Given the description of an element on the screen output the (x, y) to click on. 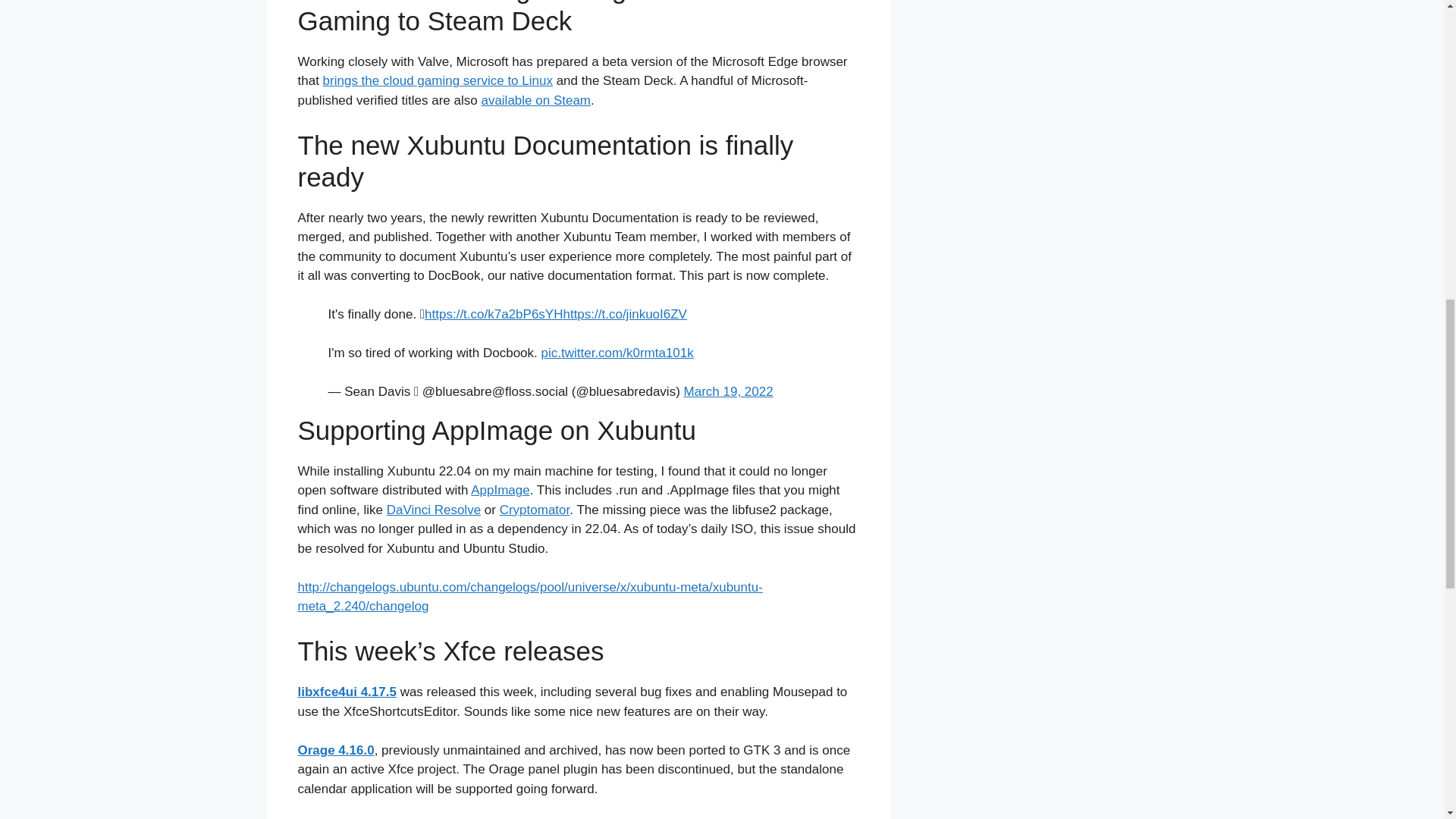
AppImage (499, 490)
available on Steam (535, 100)
March 19, 2022 (728, 391)
Orage 4.16.0 (335, 749)
Cryptomator (534, 509)
DaVinci Resolve (433, 509)
libxfce4ui 4.17.5 (346, 691)
brings the cloud gaming service to Linux (438, 80)
